Given the description of an element on the screen output the (x, y) to click on. 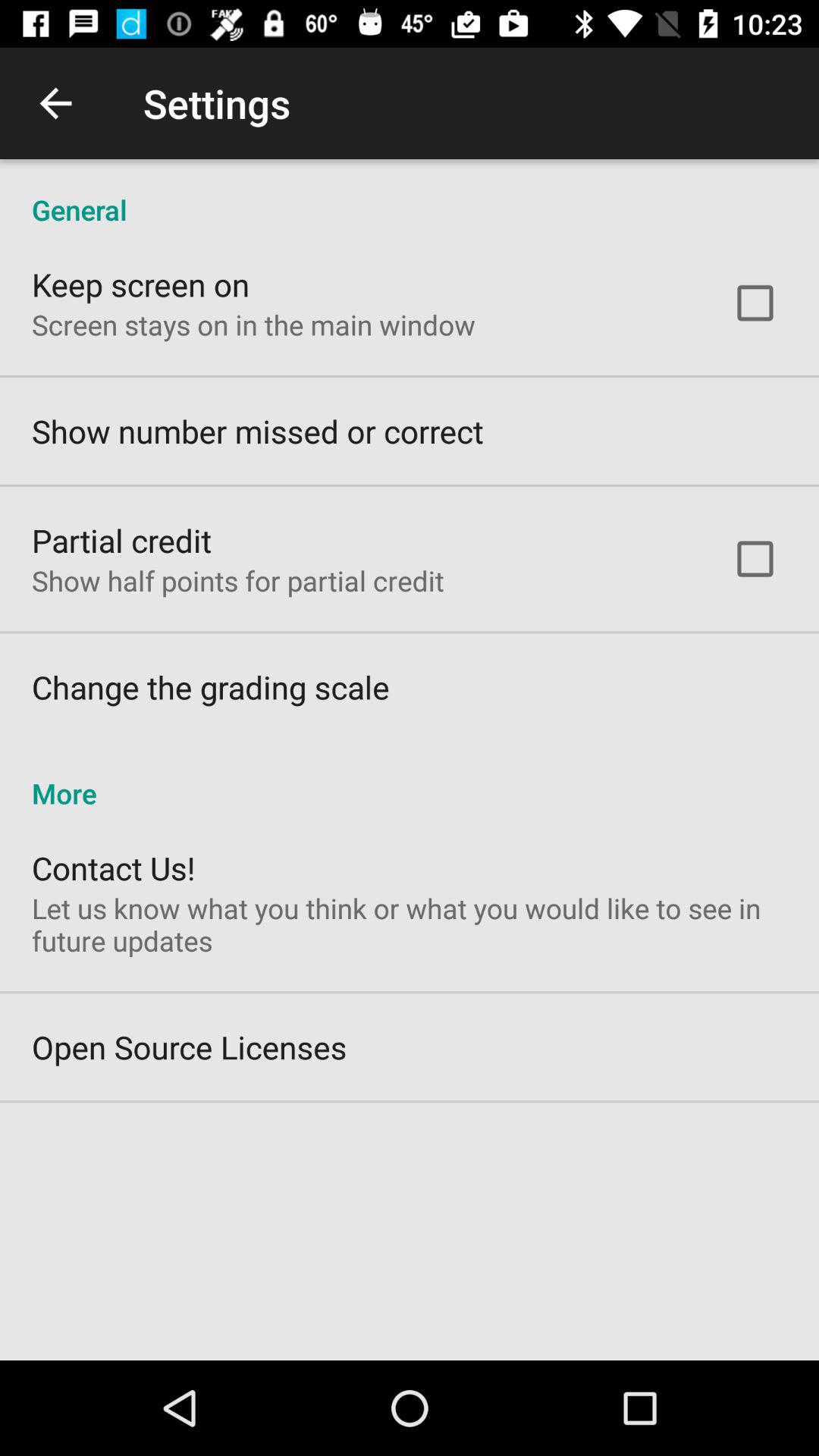
choose the item below the change the grading item (409, 777)
